Given the description of an element on the screen output the (x, y) to click on. 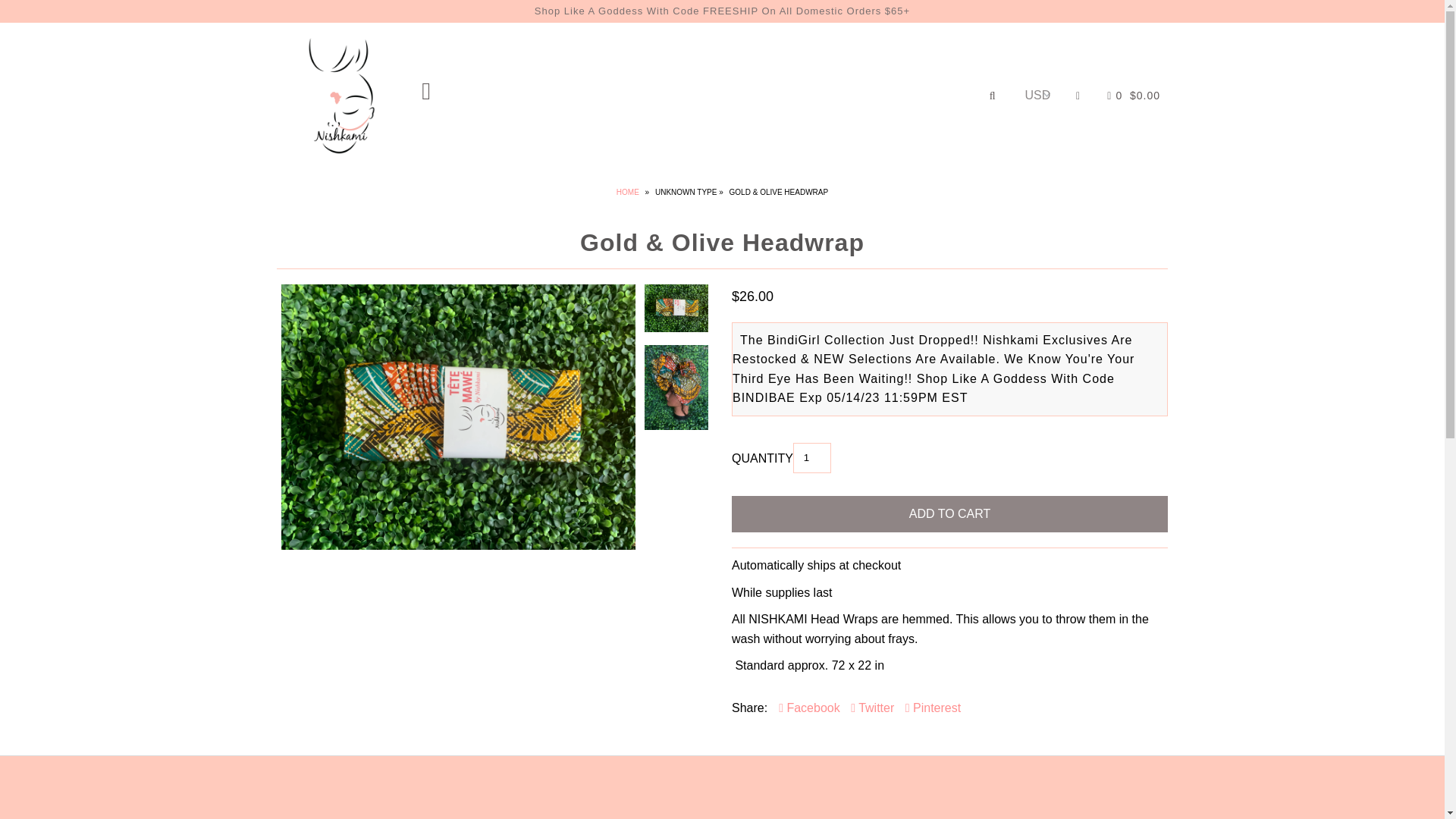
Home (629, 192)
Add to Cart (949, 514)
Share on Facebook (809, 708)
Add to Cart (949, 514)
Pinterest (932, 708)
1 (812, 458)
Share on Pinterest (932, 708)
Facebook (809, 708)
Twitter (871, 708)
HOME (629, 192)
Share on Twitter (871, 708)
